Given the description of an element on the screen output the (x, y) to click on. 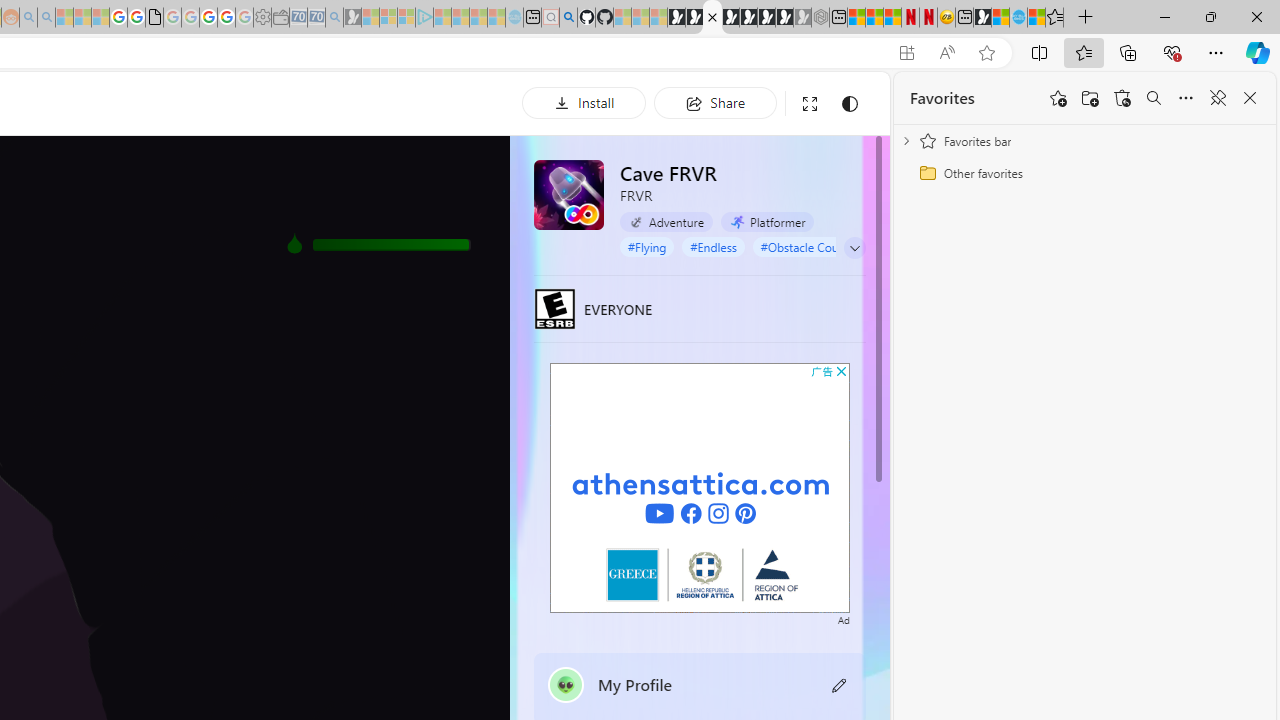
EVERYONE (554, 308)
Unpin favorites (1217, 98)
Class: control (855, 248)
Platformer (767, 222)
